Given the description of an element on the screen output the (x, y) to click on. 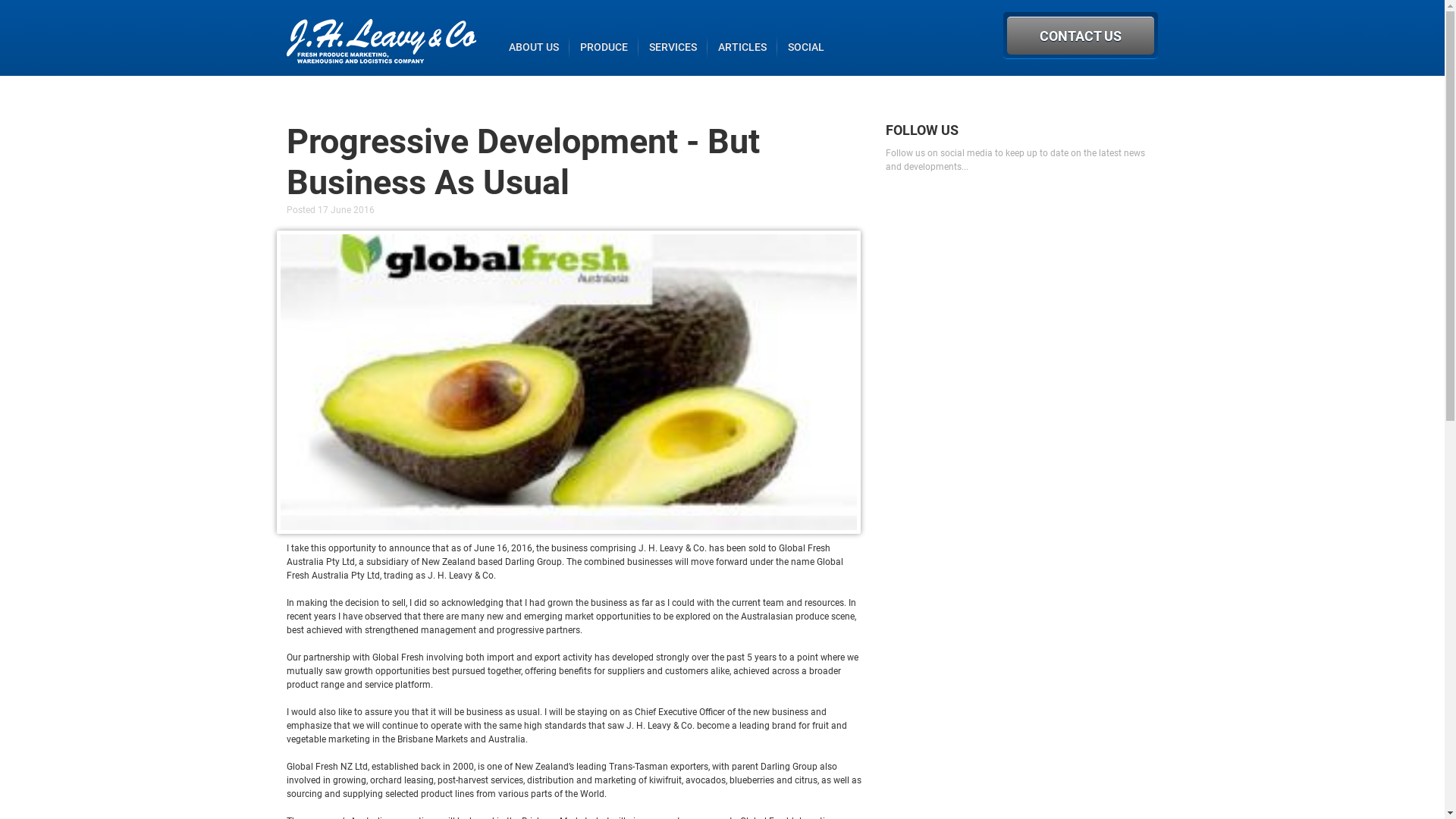
ABOUT US Element type: text (533, 46)
PRODUCE Element type: text (603, 46)
CONTACT US Element type: text (1080, 35)
SOCIAL Element type: text (805, 46)
SERVICES Element type: text (672, 46)
ARTICLES Element type: text (742, 46)
